Given the description of an element on the screen output the (x, y) to click on. 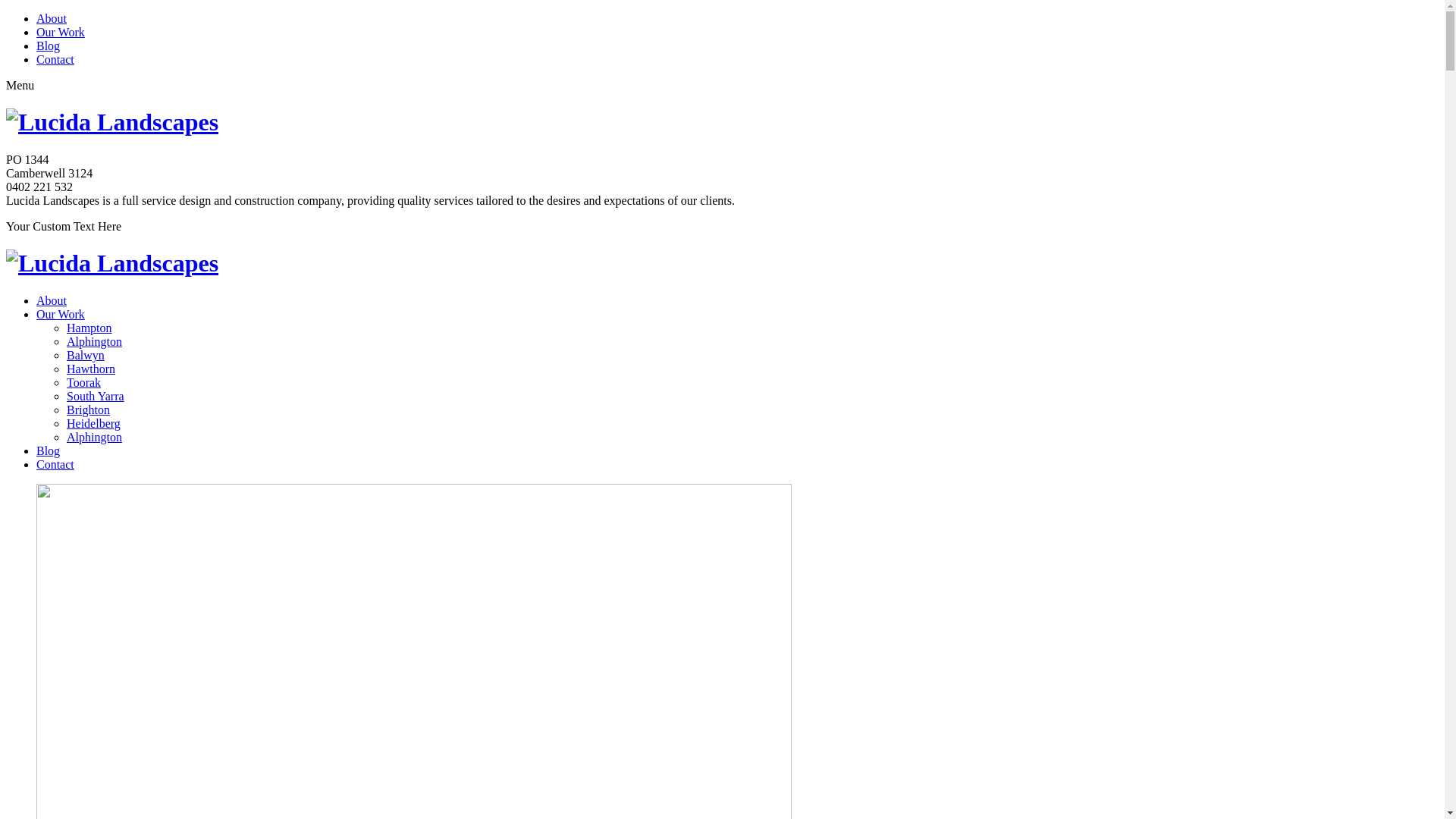
South Yarra Element type: text (95, 395)
Balwyn Element type: text (85, 354)
Our Work Element type: text (60, 31)
Toorak Element type: text (83, 382)
About Element type: text (51, 18)
Heidelberg Element type: text (93, 423)
Blog Element type: text (47, 450)
Contact Element type: text (55, 59)
Menu Element type: text (20, 84)
Alphington Element type: text (94, 436)
Hawthorn Element type: text (90, 368)
About Element type: text (51, 300)
Blog Element type: text (47, 45)
Hampton Element type: text (89, 327)
Contact Element type: text (55, 464)
Our Work Element type: text (60, 313)
Alphington Element type: text (94, 341)
Brighton Element type: text (87, 409)
